Given the description of an element on the screen output the (x, y) to click on. 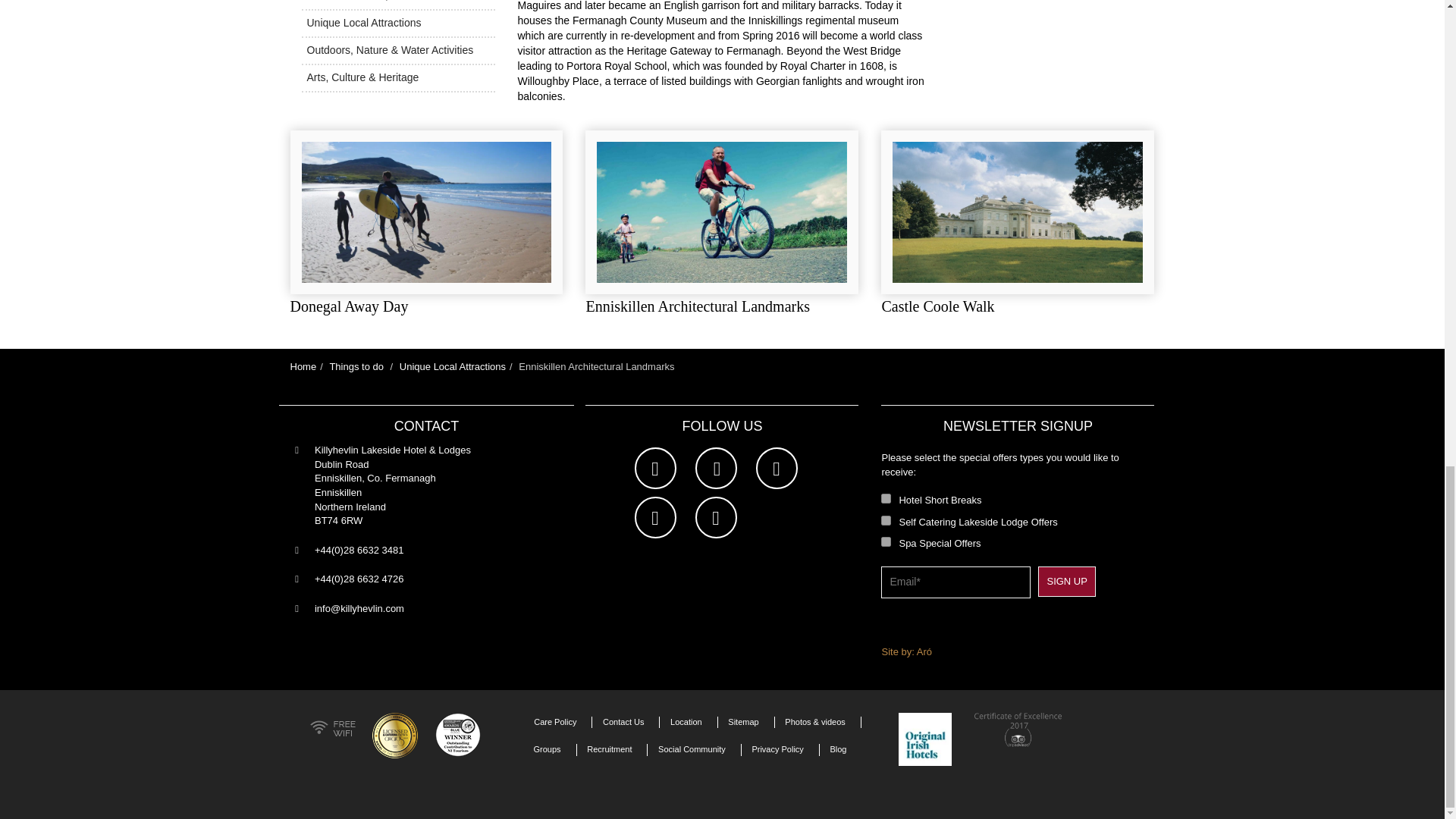
Sign Up (1066, 581)
13664 (885, 542)
13667 (885, 498)
13665 (885, 519)
